Given the description of an element on the screen output the (x, y) to click on. 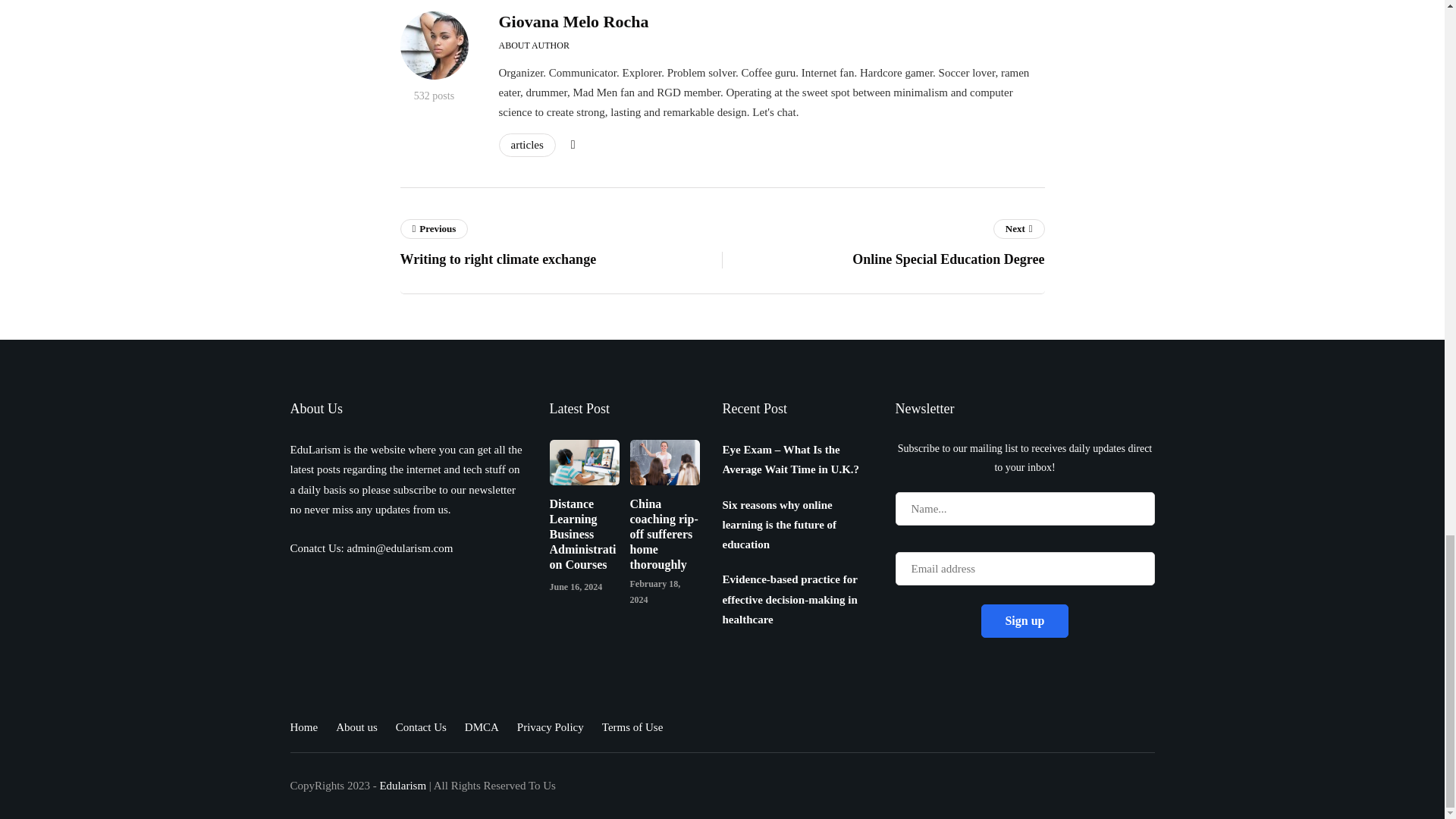
Posts by Giovana Melo Rocha (574, 21)
Sign up (1024, 621)
